Given the description of an element on the screen output the (x, y) to click on. 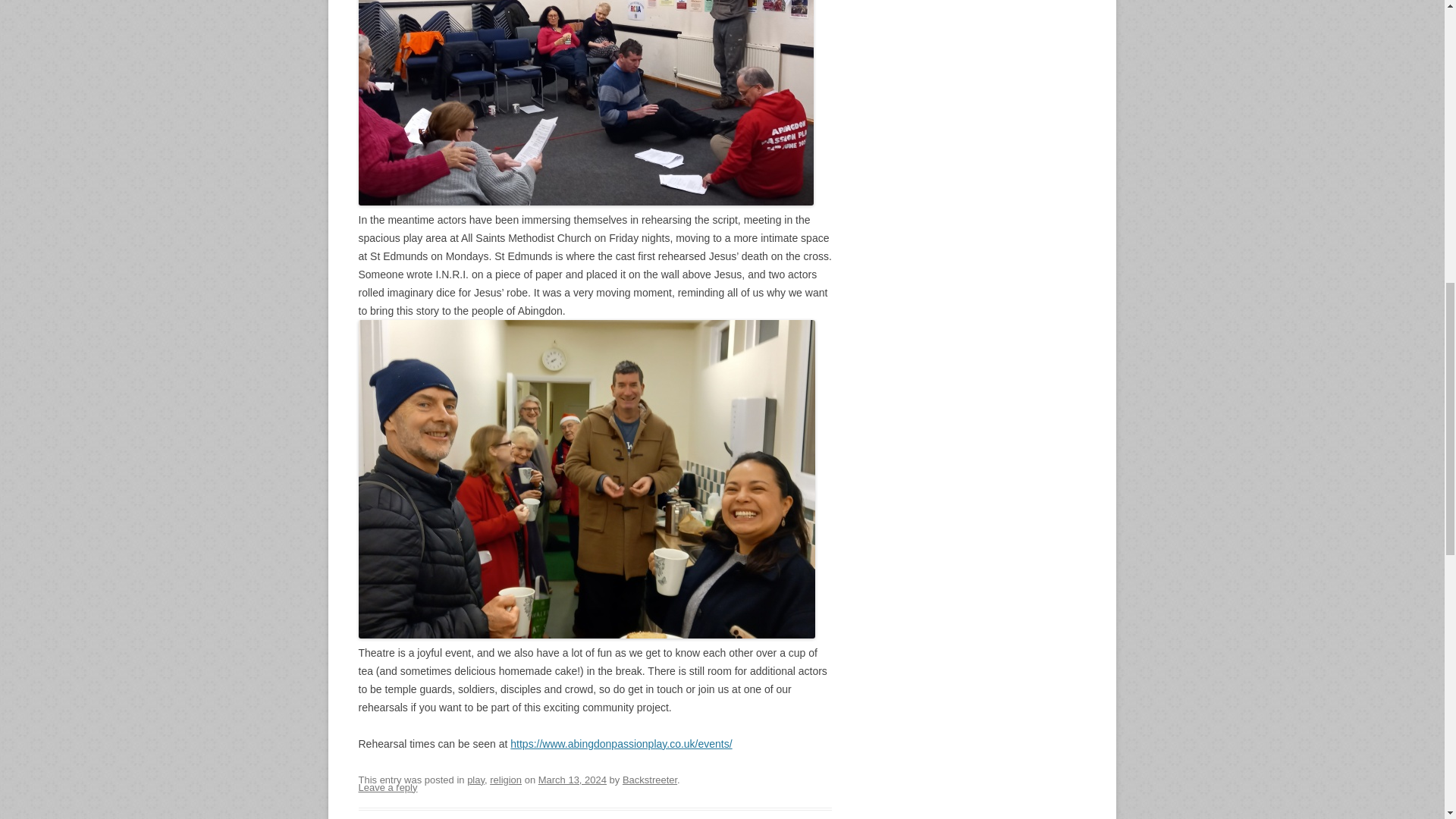
March 13, 2024 (572, 779)
play (475, 779)
religion (505, 779)
Leave a reply (387, 787)
9:15 pm (572, 779)
View all posts by Backstreeter (650, 779)
Backstreeter (650, 779)
